Given the description of an element on the screen output the (x, y) to click on. 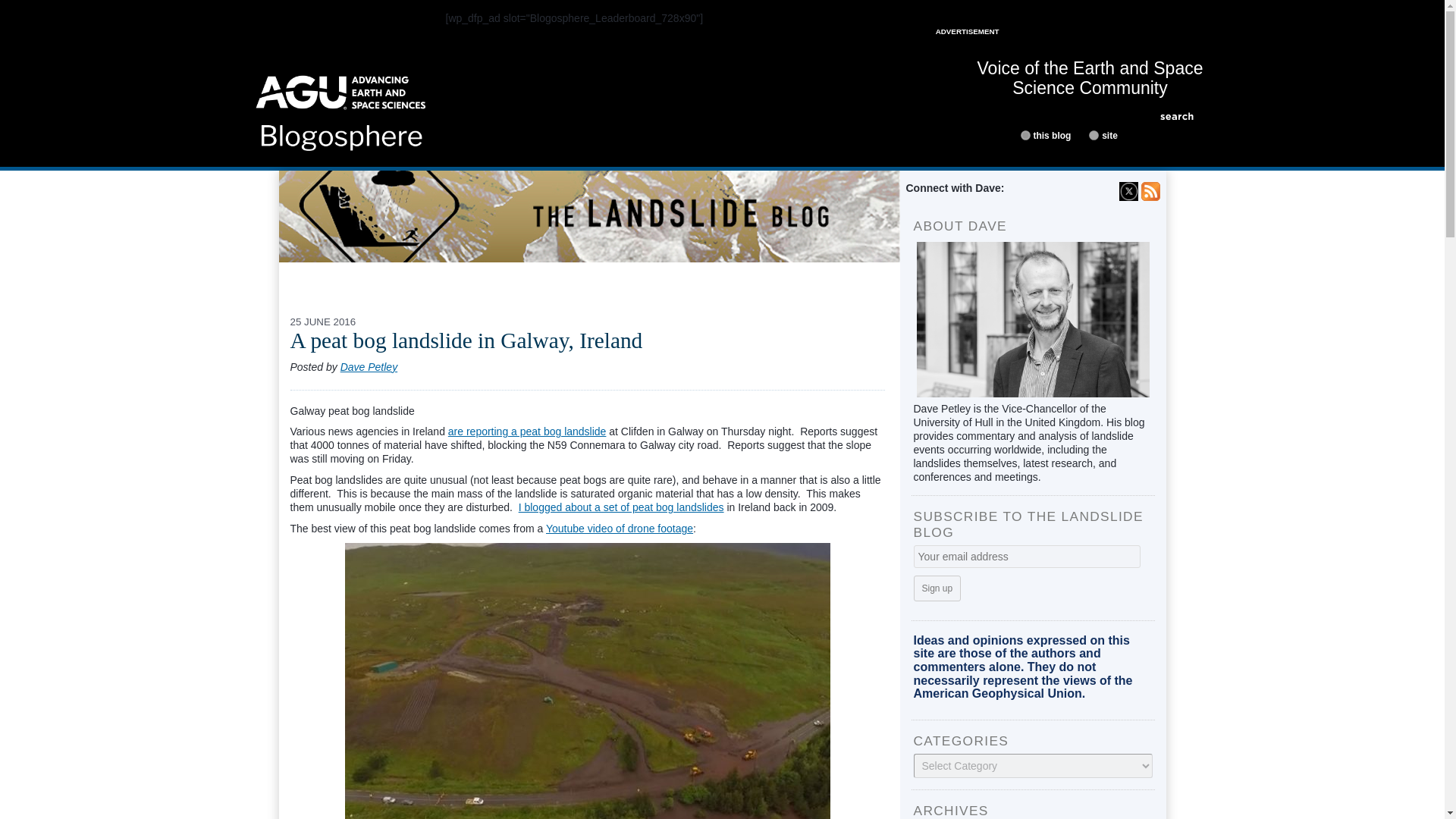
Youtube video of drone footage (619, 528)
all (1094, 135)
are reporting a peat bog landslide (527, 431)
Sign up (936, 588)
blog (1025, 135)
HOME (314, 274)
Home (341, 108)
Sign up (936, 588)
ABOUT DAVE (398, 274)
CONTACT ME (498, 274)
